Given the description of an element on the screen output the (x, y) to click on. 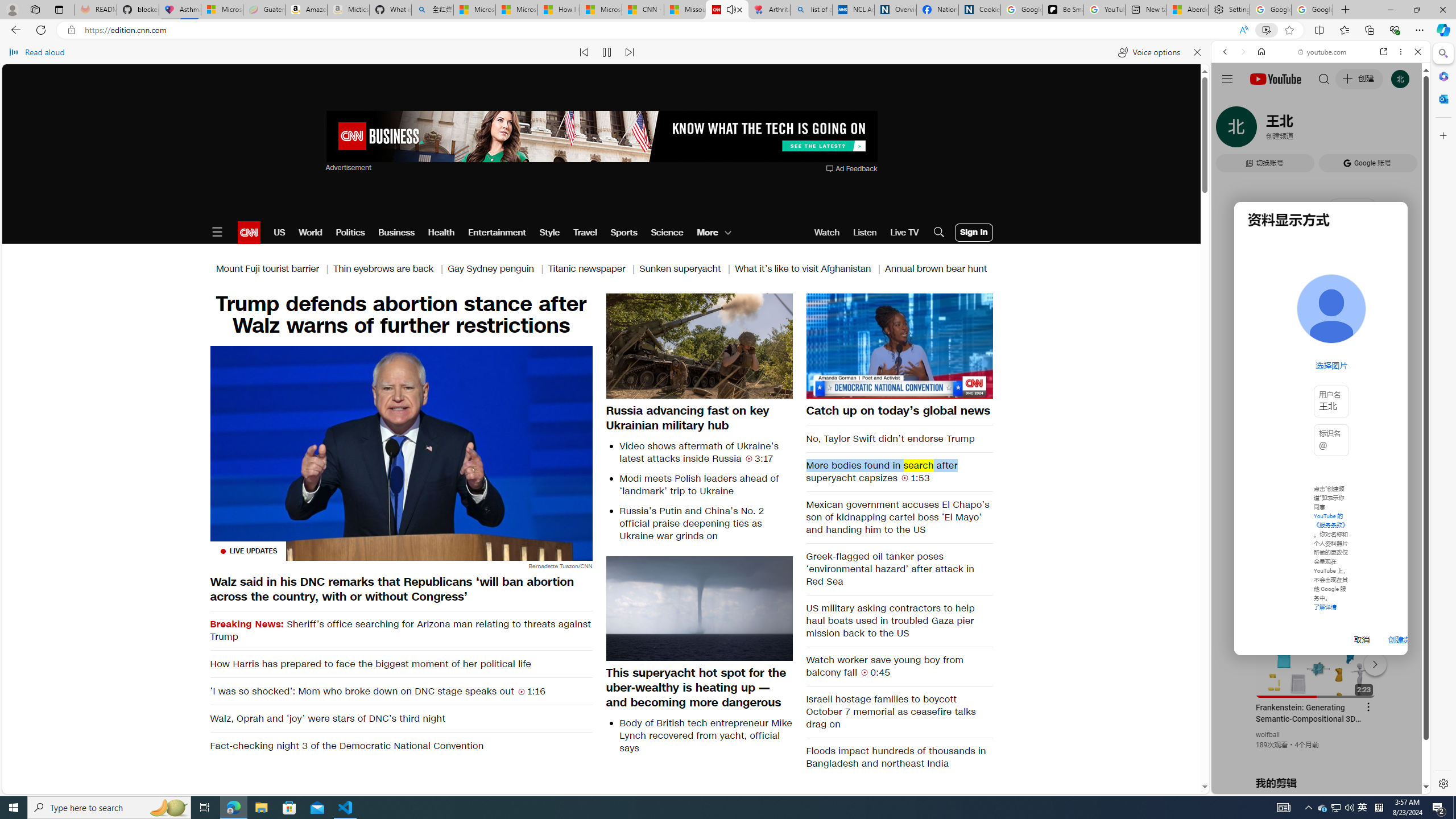
Search videos from youtube.com (1299, 373)
Pause (898, 344)
Search Icon (938, 232)
